Given the description of an element on the screen output the (x, y) to click on. 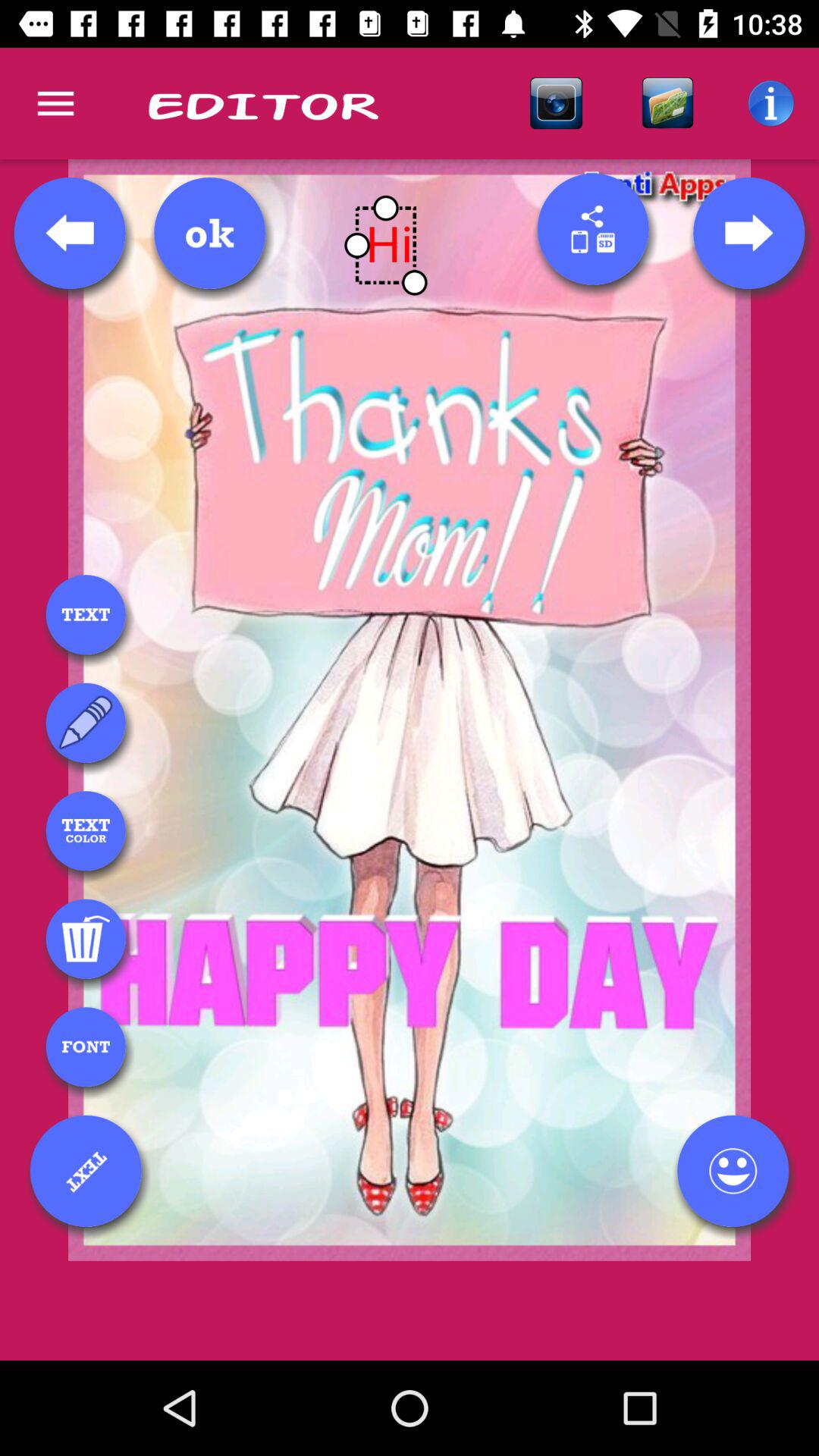
tap the item to the right of the editor item (555, 103)
